Given the description of an element on the screen output the (x, y) to click on. 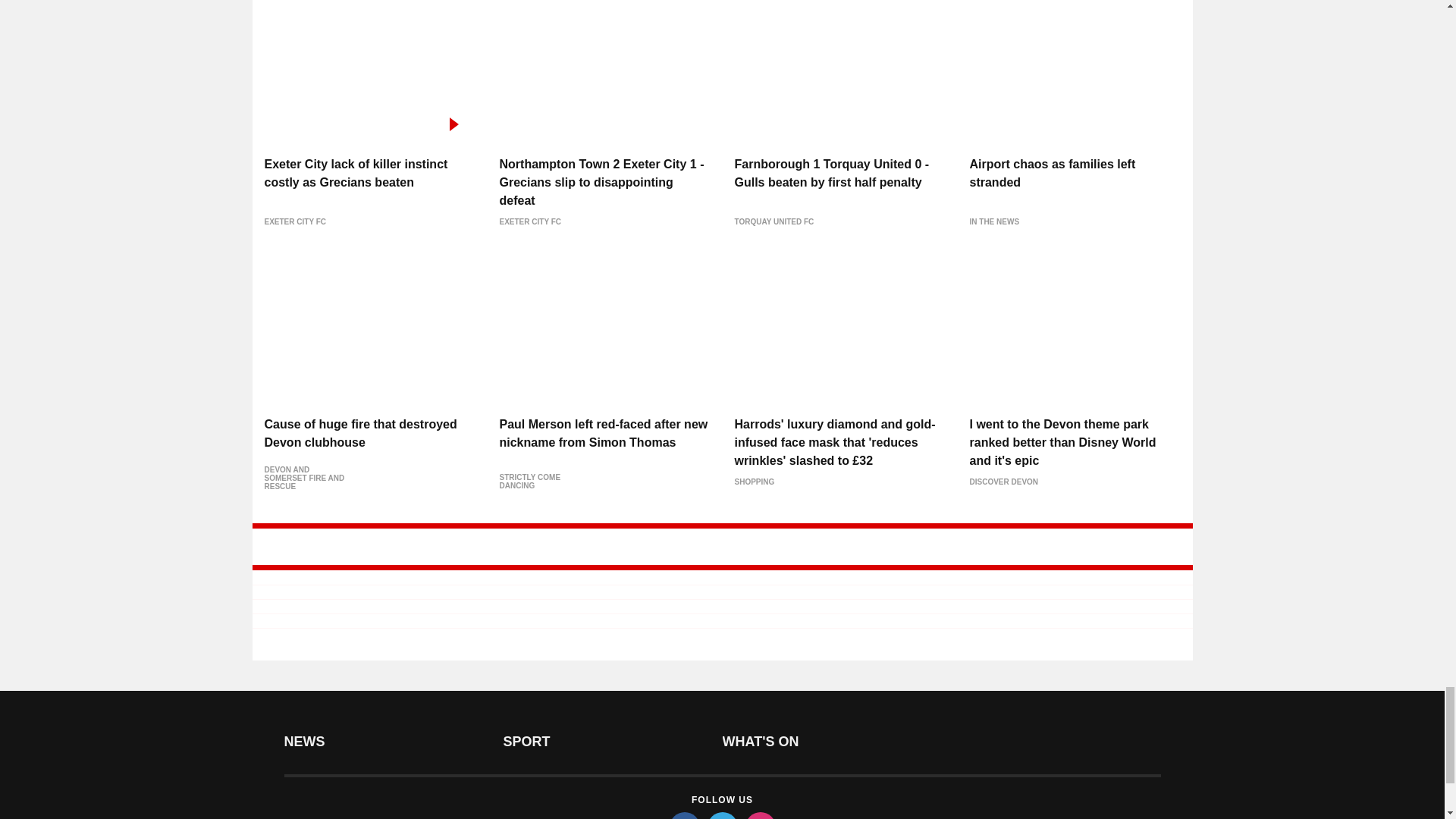
twitter (721, 815)
instagram (759, 815)
facebook (683, 815)
